Given the description of an element on the screen output the (x, y) to click on. 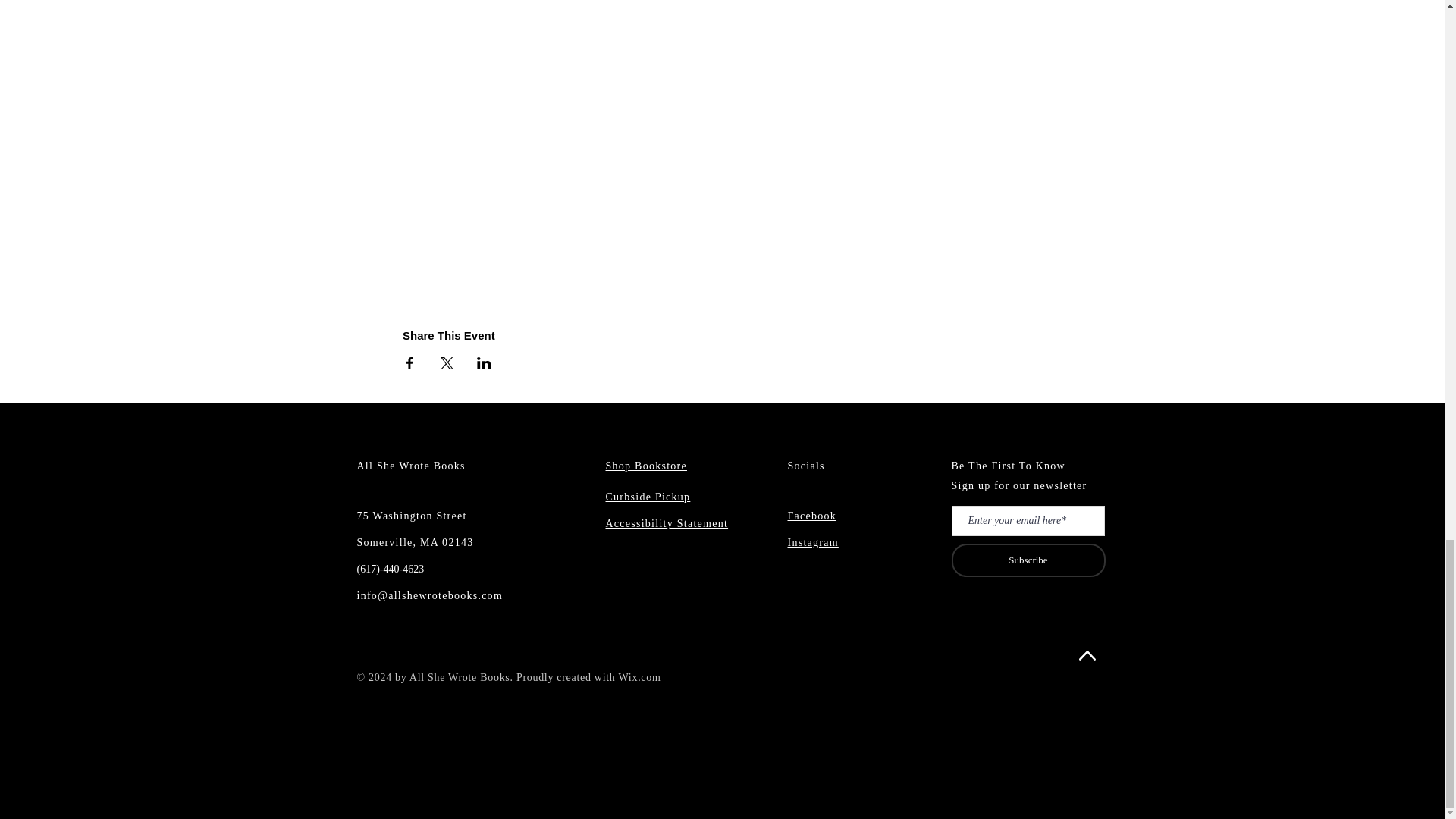
Instagram (812, 541)
Accessibility Statement (666, 522)
Facebook (811, 515)
Shop Bookstore (645, 465)
Subscribe (1027, 560)
Wix.com (639, 677)
Curbside Pickup (647, 496)
